Given the description of an element on the screen output the (x, y) to click on. 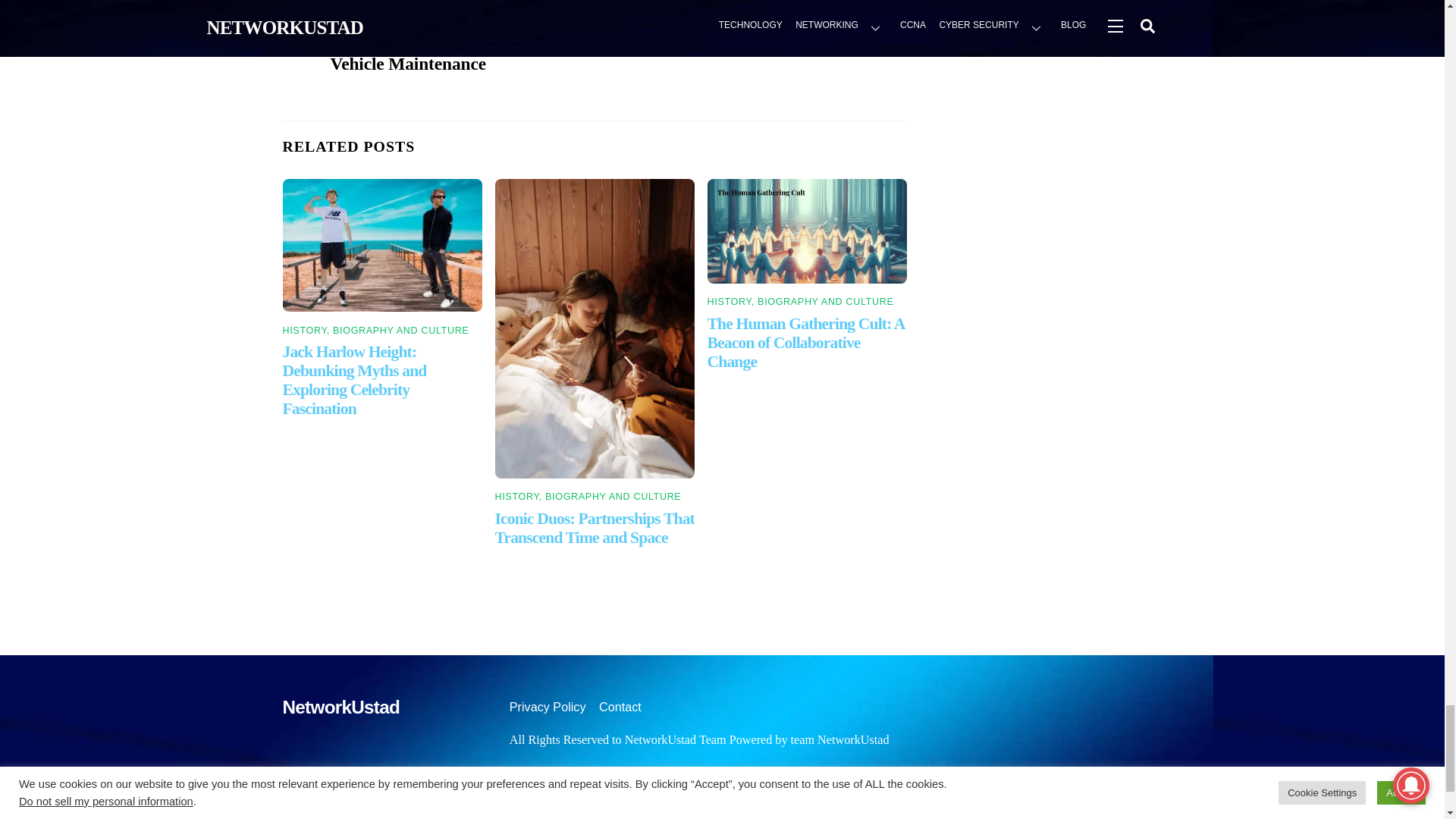
The rule 34 Inferno: Embrace the Intense Power of Pleasure (735, 37)
HISTORY, BIOGRAPHY AND CULTURE (588, 496)
HISTORY, BIOGRAPHY AND CULTURE (800, 301)
HISTORY, BIOGRAPHY AND CULTURE (375, 330)
Iconic Duos: Partnerships That Transcend Time and Space (594, 528)
